Given the description of an element on the screen output the (x, y) to click on. 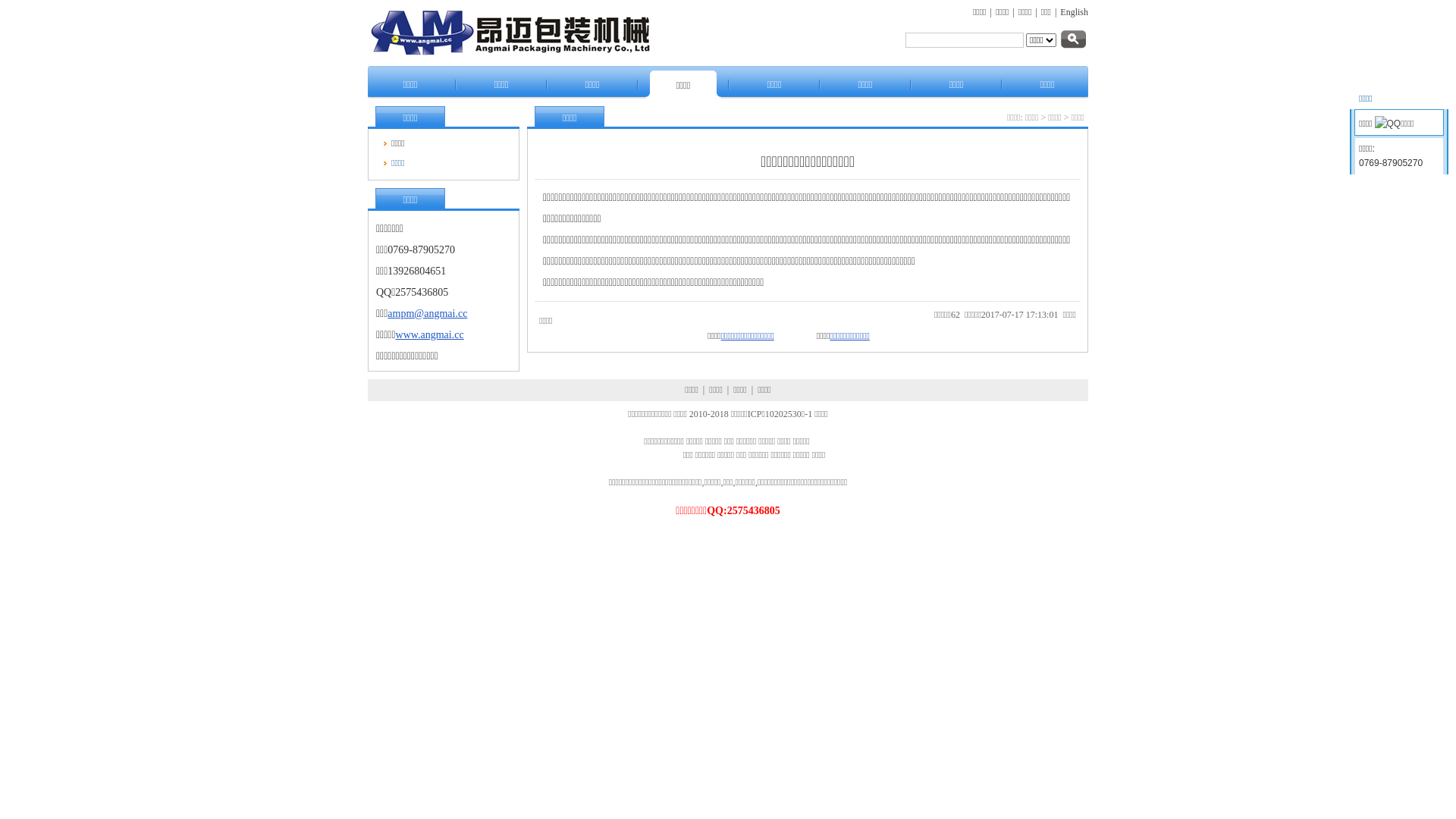
ampm@angmai.cc Element type: text (427, 313)
www.angmai.cc Element type: text (429, 334)
English Element type: text (1074, 11)
